Given the description of an element on the screen output the (x, y) to click on. 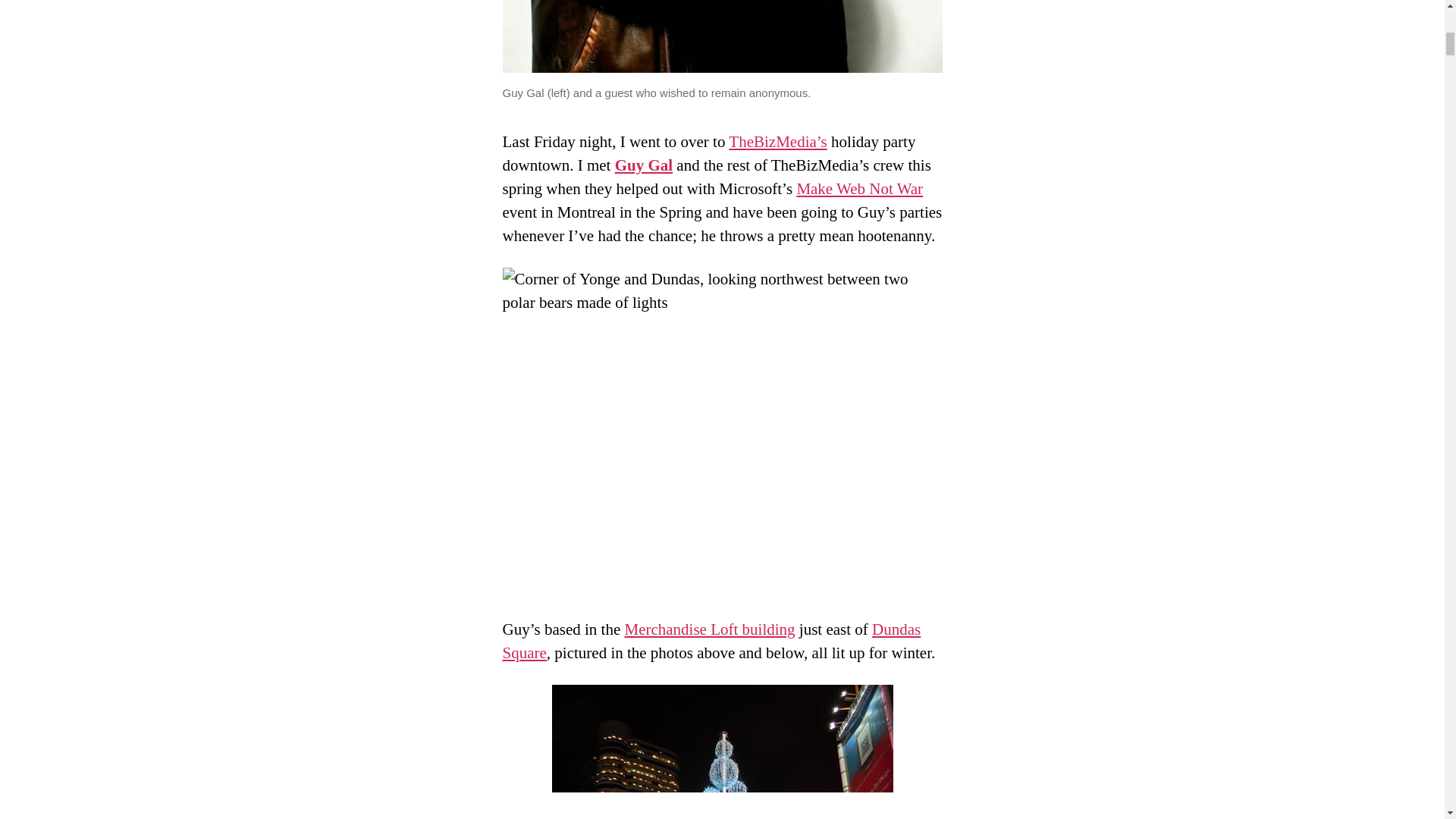
Guy Gal (643, 165)
Make Web Not War (859, 188)
Dundas Square (711, 640)
Guy Gal (722, 36)
Christmas Tree (722, 751)
Merchandise Loft building (709, 628)
